Given the description of an element on the screen output the (x, y) to click on. 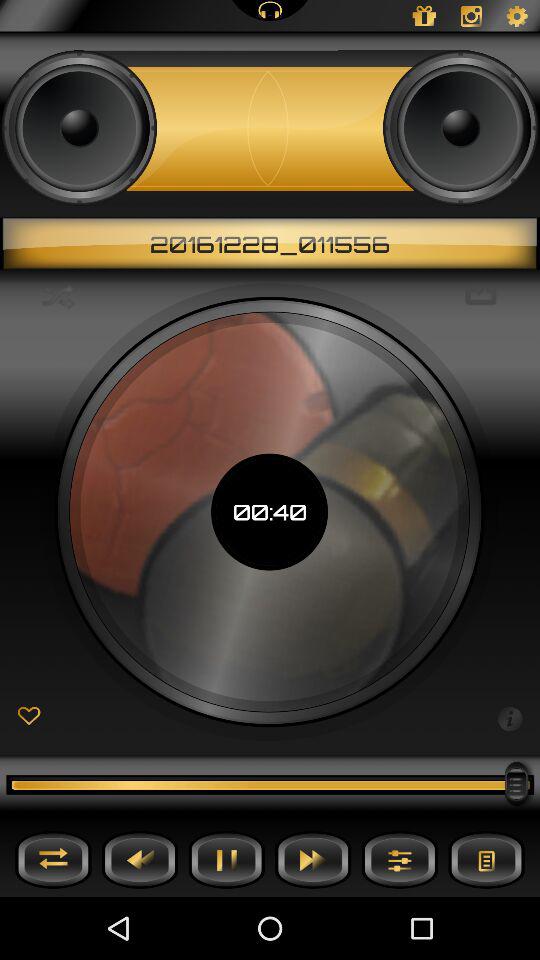
tap the icon next to the 00:40 icon (58, 296)
